Given the description of an element on the screen output the (x, y) to click on. 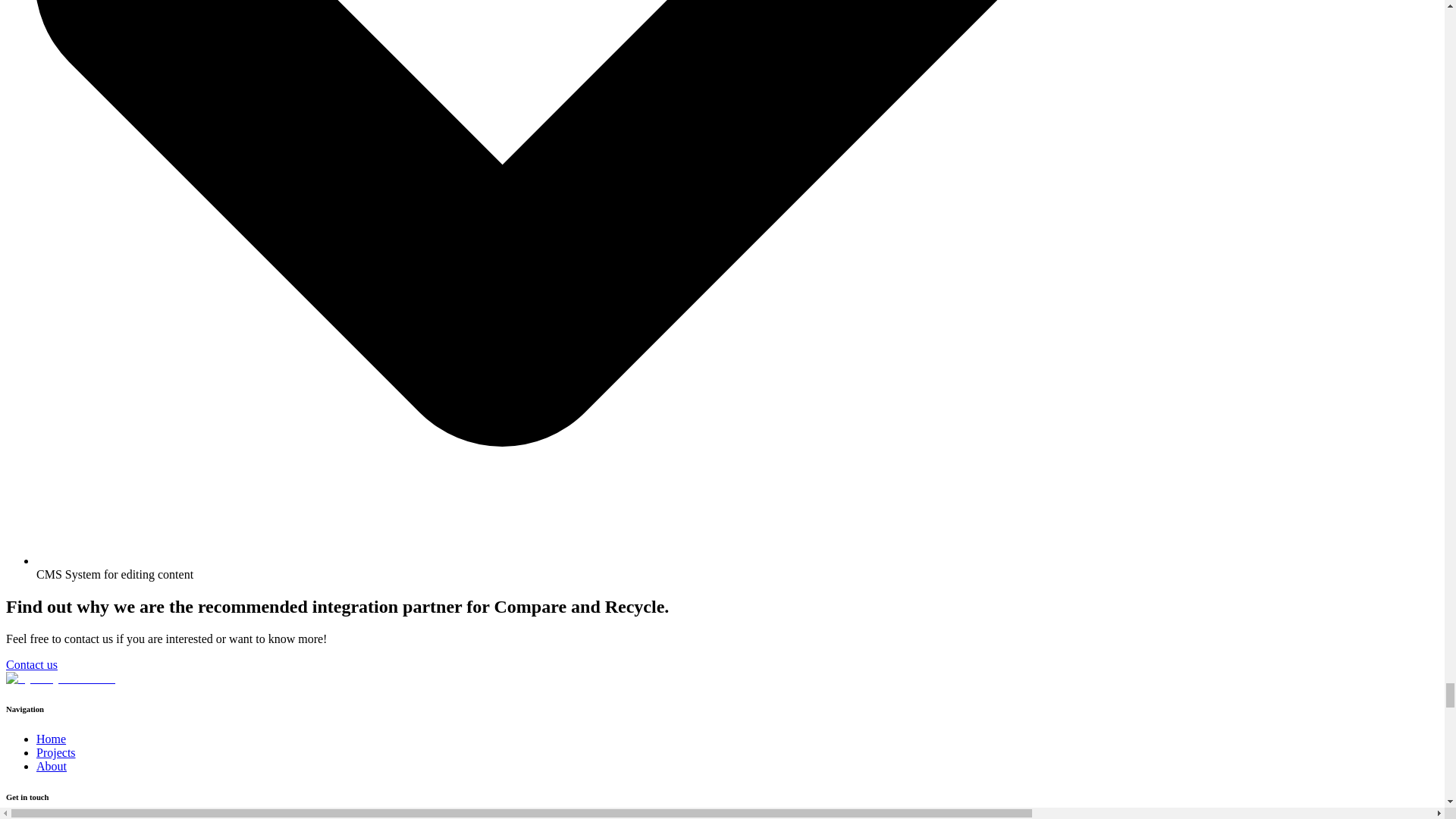
Contact us (31, 664)
Home (50, 738)
About (51, 766)
Projects (55, 752)
